Given the description of an element on the screen output the (x, y) to click on. 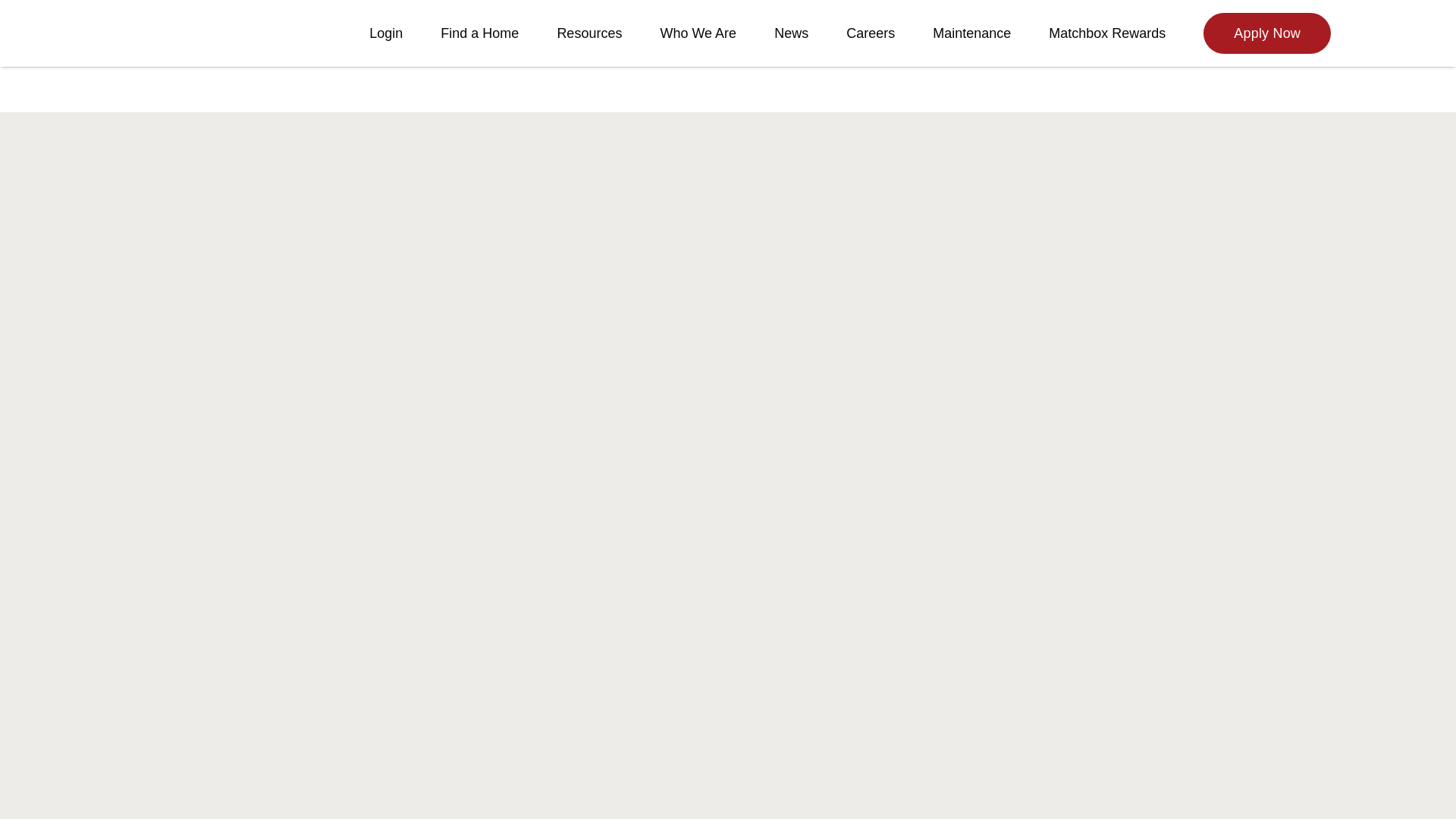
News (791, 33)
Apply Now (1267, 33)
Find a Home (479, 33)
Careers (870, 33)
Careers (870, 33)
Find a Home (479, 33)
Who We Are (697, 33)
Maintenance (971, 33)
Who We Are (697, 33)
Resources (588, 33)
Login (386, 33)
News (791, 33)
Login (386, 33)
Resources (588, 33)
Matchbox Rewards (1107, 33)
